Given the description of an element on the screen output the (x, y) to click on. 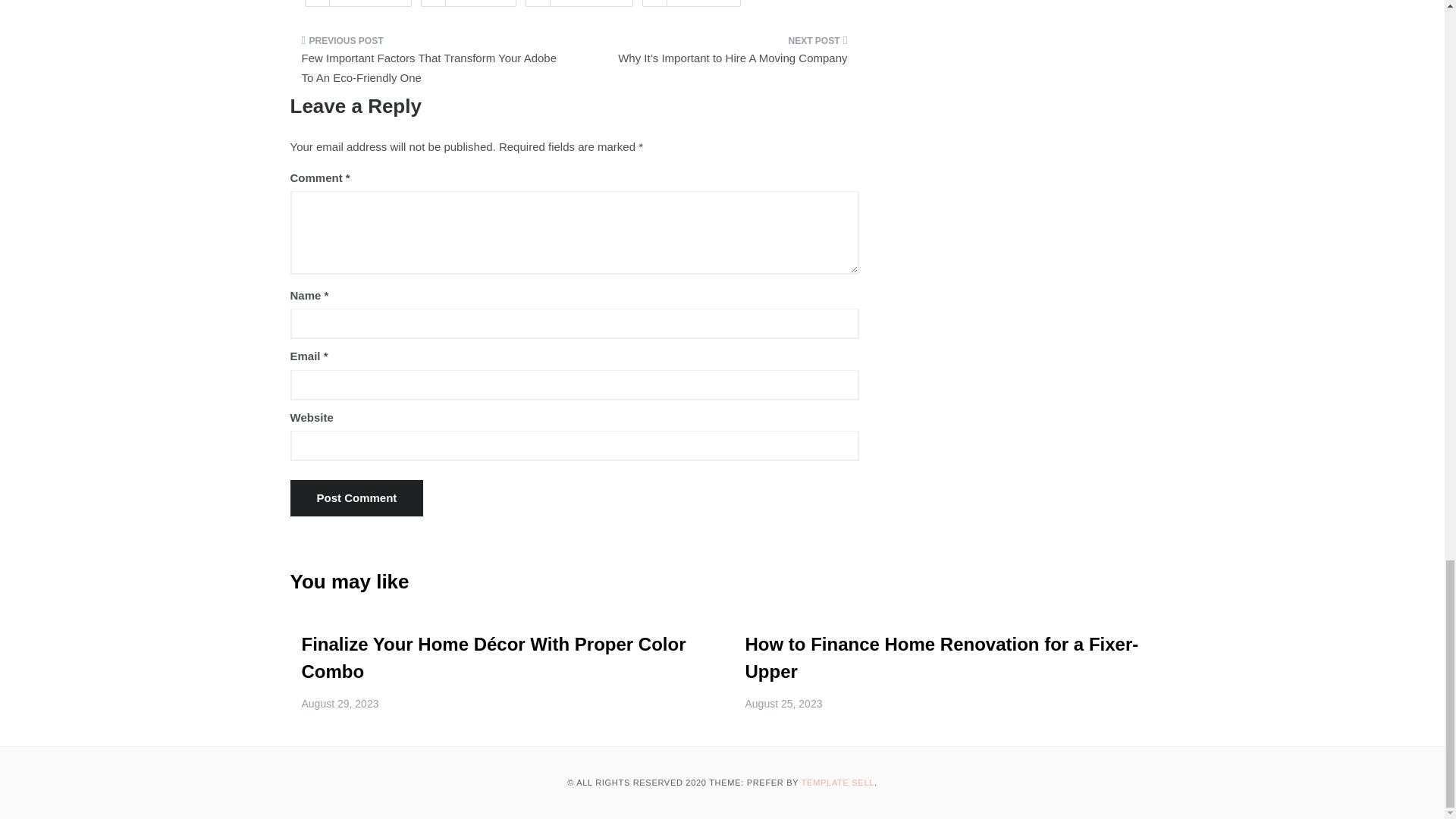
Post Comment (356, 497)
Post Comment (356, 497)
TWITTER (468, 3)
PINTEREST (579, 3)
LINKEDIN (691, 3)
FACEBOOK (358, 3)
